Given the description of an element on the screen output the (x, y) to click on. 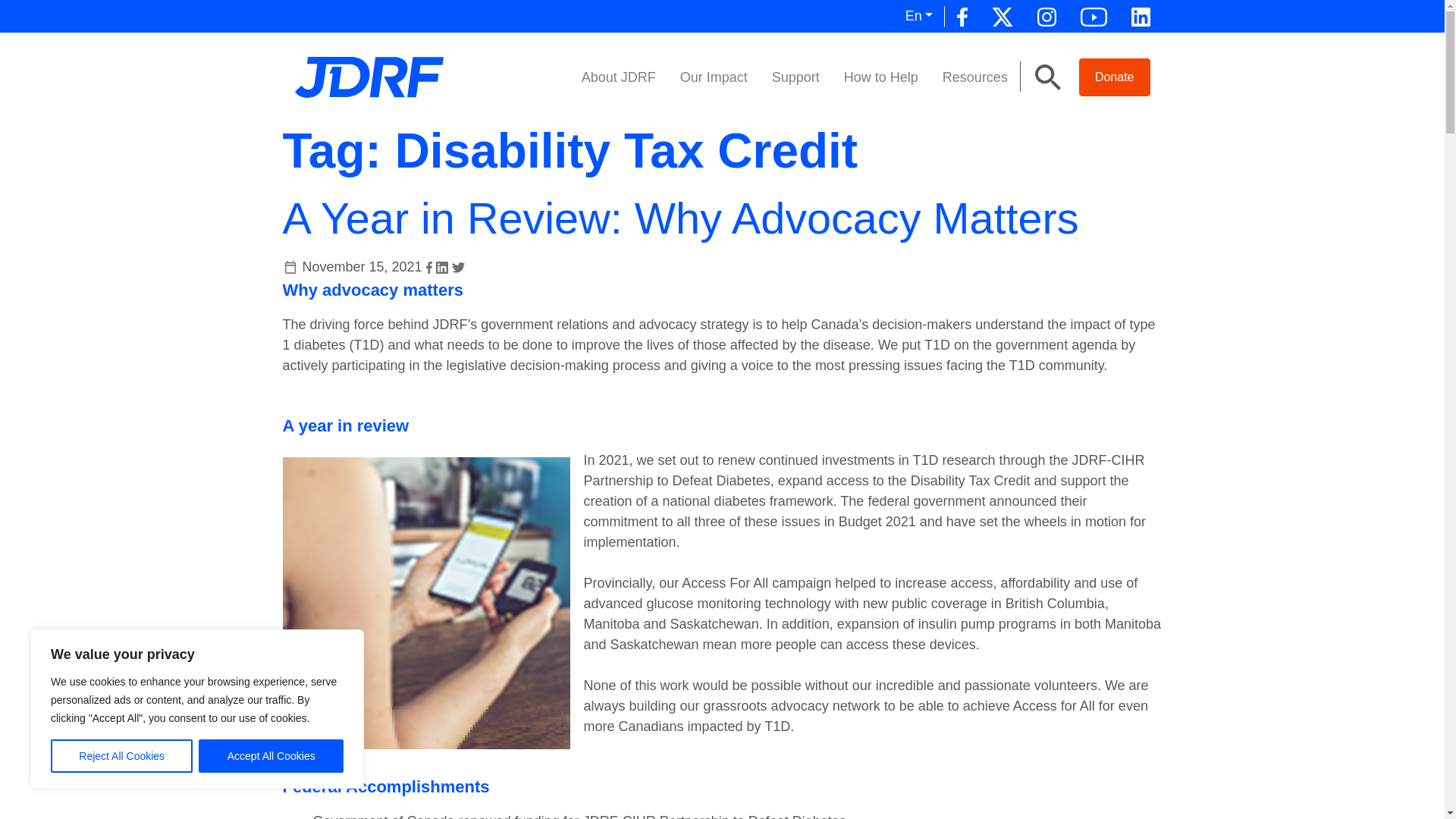
JDRF Canada (368, 76)
Accept All Cookies (270, 756)
Our Impact (714, 76)
En (918, 16)
Reject All Cookies (121, 756)
About JDRF (618, 76)
